Given the description of an element on the screen output the (x, y) to click on. 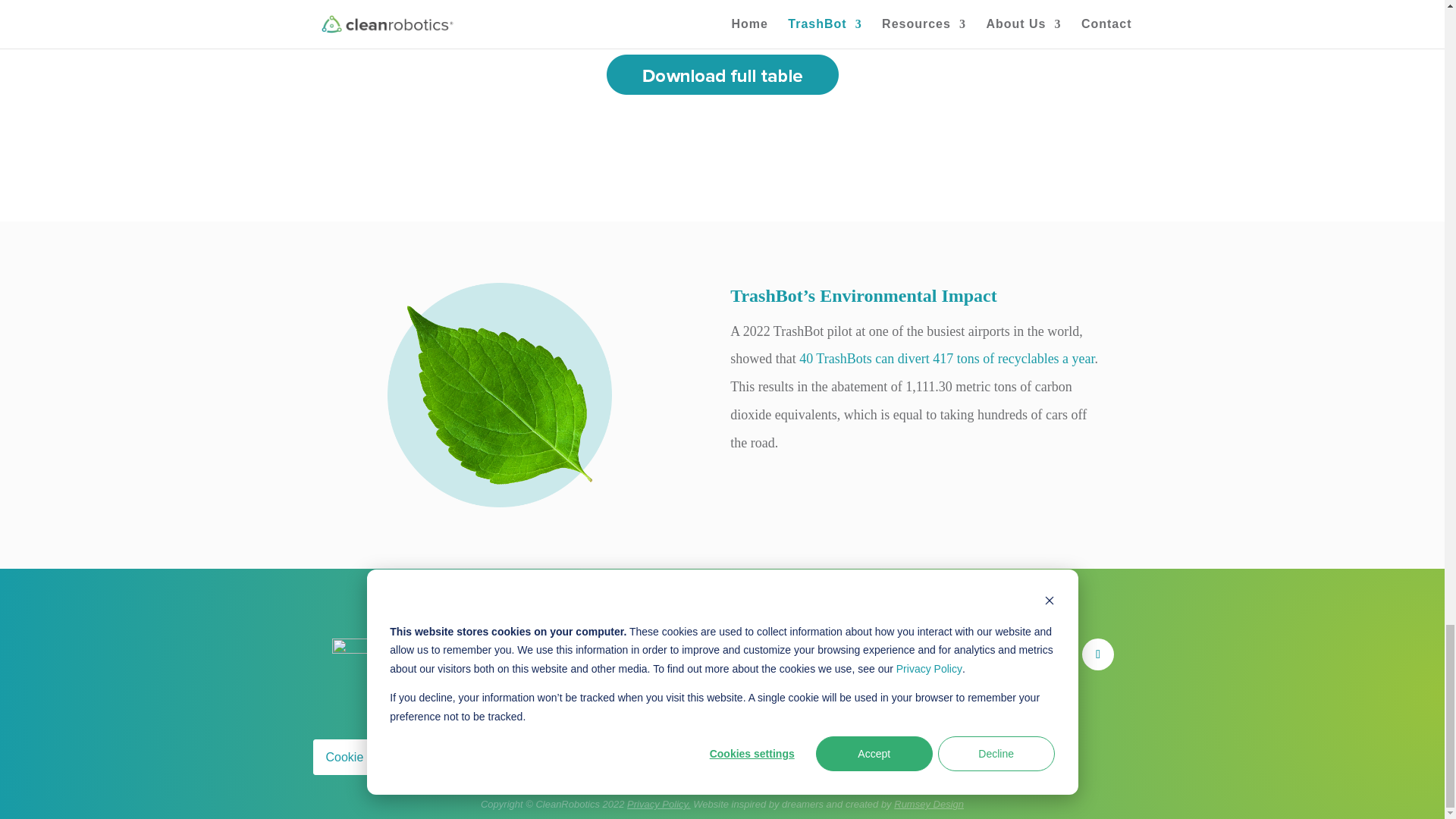
Follow on Instagram (1054, 653)
Follow on Youtube (1010, 653)
Follow on LinkedIn (921, 653)
Logo Menu Home Page White CleanRobotics (433, 651)
Download full table Button CleanRobotics (722, 74)
Follow on X (965, 653)
Consideration Landing Page Leaf Image CleanRobotics 01 (499, 394)
Follow on Facebook (1097, 653)
